Given the description of an element on the screen output the (x, y) to click on. 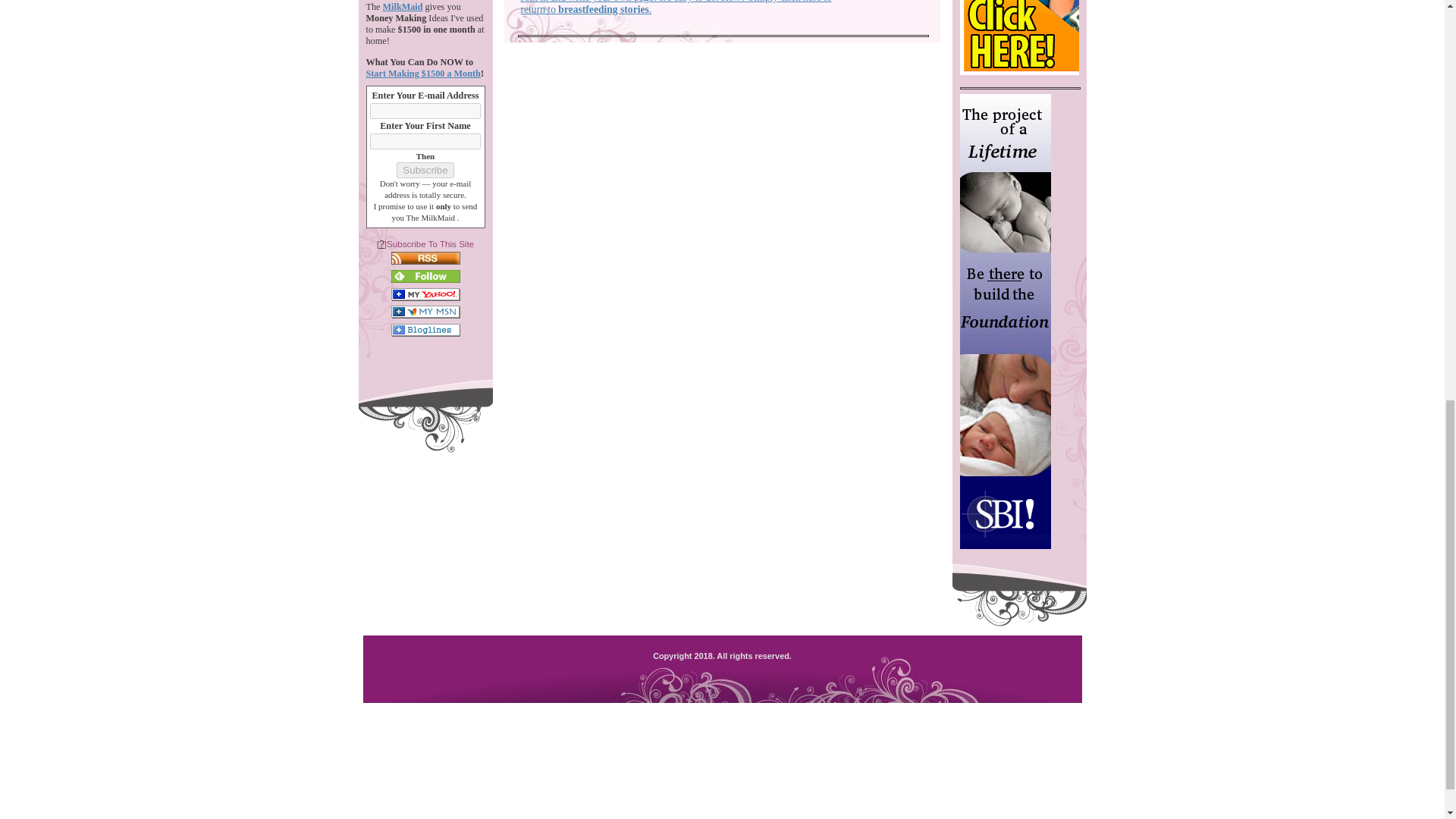
Advertisement (722, 739)
Advertisement (721, 163)
Subscribe (424, 170)
Advertisement (721, 800)
? (381, 243)
make money blogging (1024, 37)
MilkMaid (402, 6)
